Given the description of an element on the screen output the (x, y) to click on. 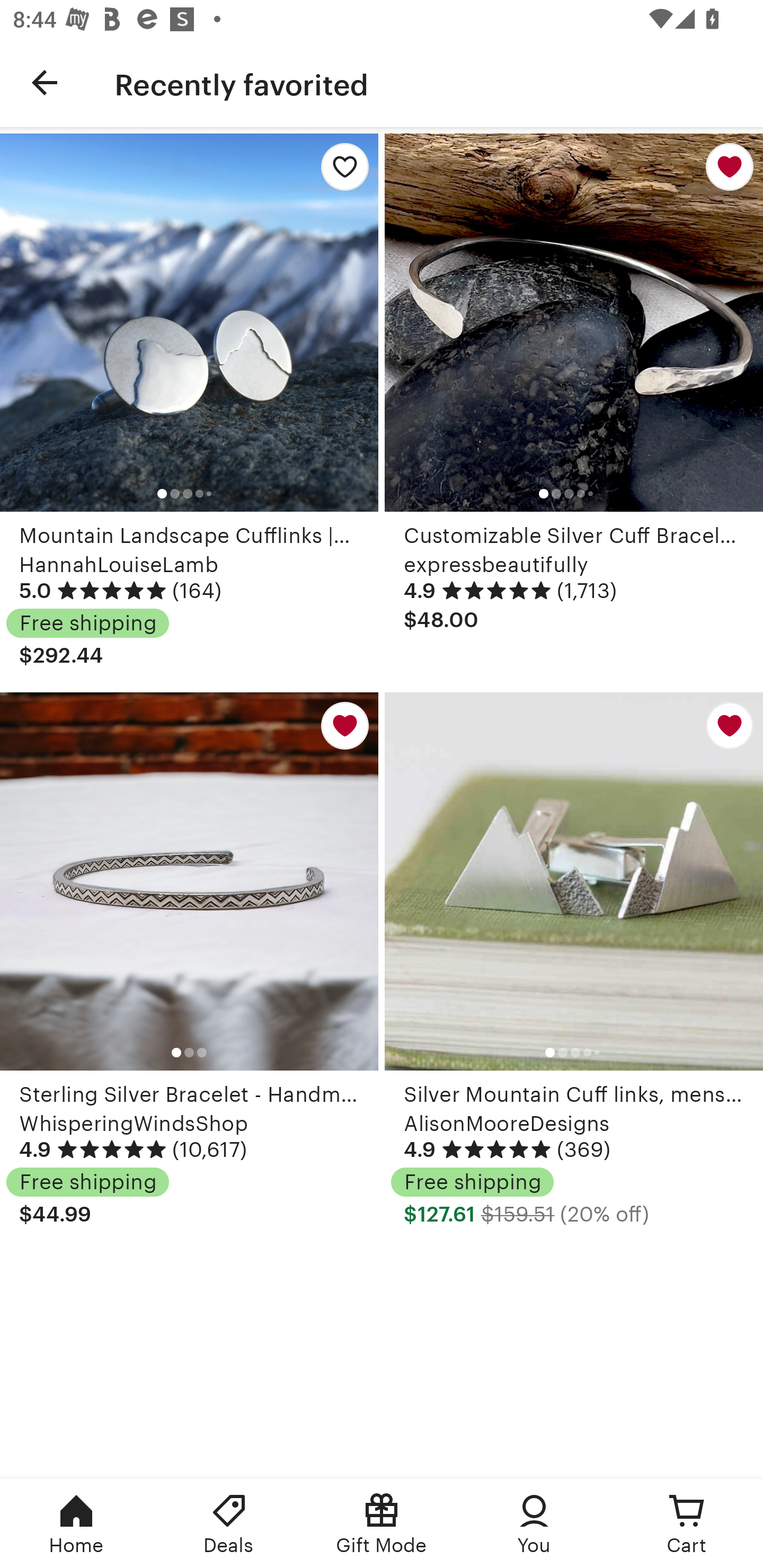
Navigate up (44, 82)
Deals (228, 1523)
Gift Mode (381, 1523)
You (533, 1523)
Cart (686, 1523)
